Given the description of an element on the screen output the (x, y) to click on. 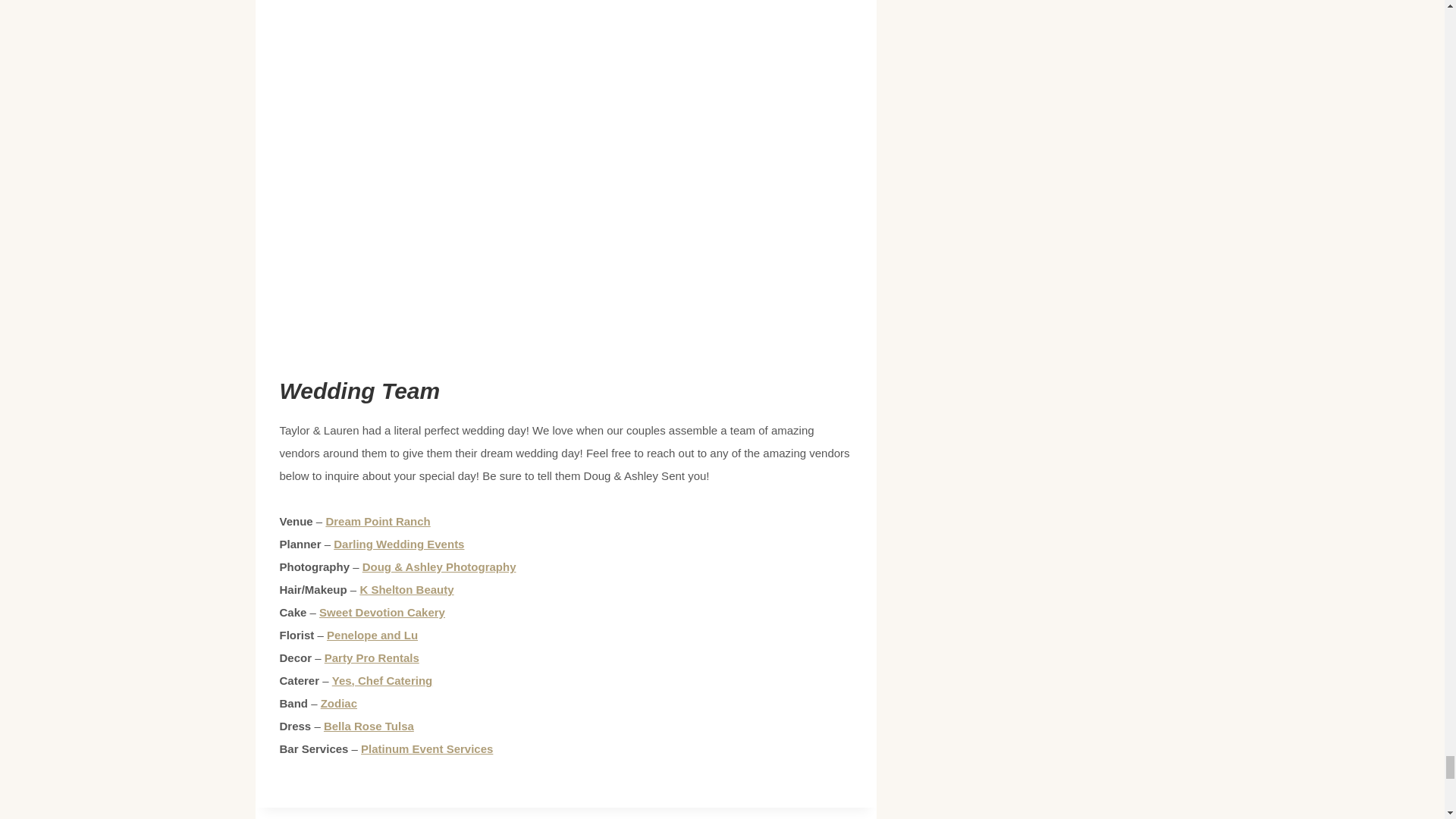
Zodiac (338, 703)
Yes, Chef Catering (381, 680)
Bella Rose Tulsa (368, 725)
K Shelton Beauty (405, 589)
Dream Point Ranch (376, 521)
Penelope and Lu (371, 634)
Party Pro Rentals (371, 657)
Darling Wedding Events (398, 543)
Platinum Event Services (427, 748)
Sweet Devotion Cakery (381, 612)
